Given the description of an element on the screen output the (x, y) to click on. 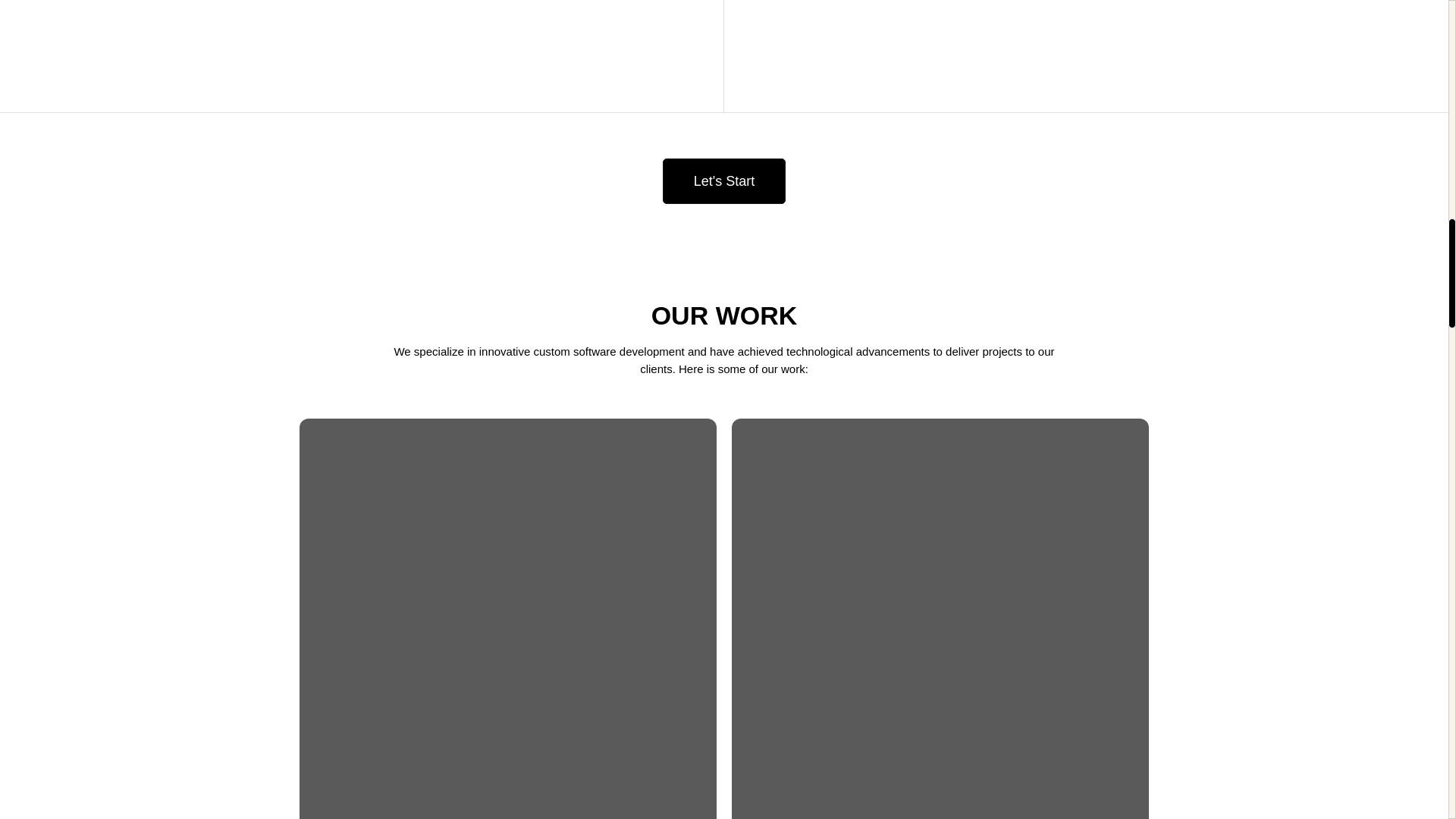
Let's Start (724, 180)
